Given the description of an element on the screen output the (x, y) to click on. 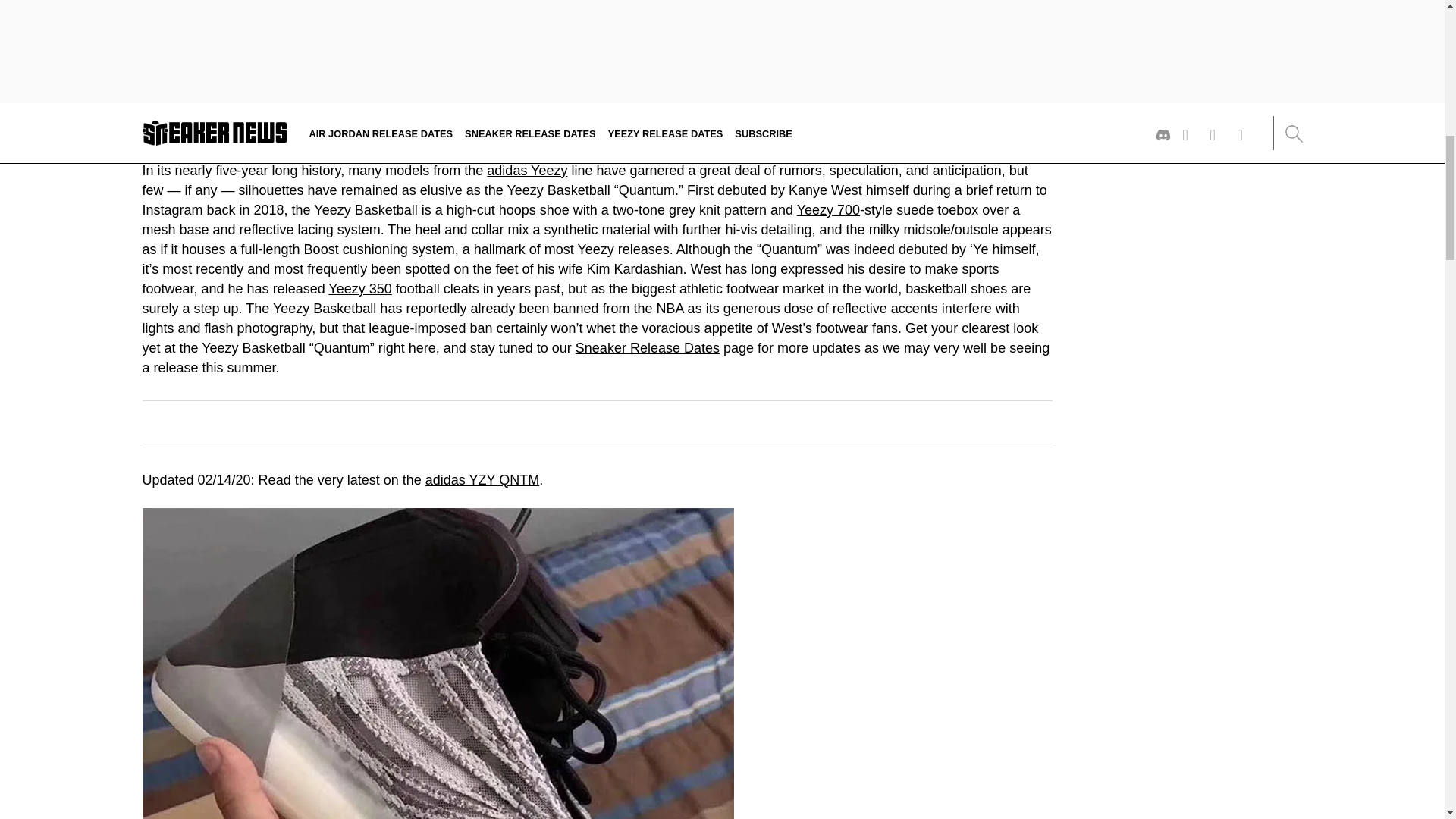
Yeezy 350 (360, 288)
Ross Dwyer (210, 104)
Kanye West (825, 190)
Yeezy Basketball (558, 190)
adidas YZY QNTM (481, 479)
Kim Kardashian (634, 268)
Sneaker Release Dates (647, 347)
Yeezy 700 (828, 209)
adidas Yeezy (526, 170)
